Given the description of an element on the screen output the (x, y) to click on. 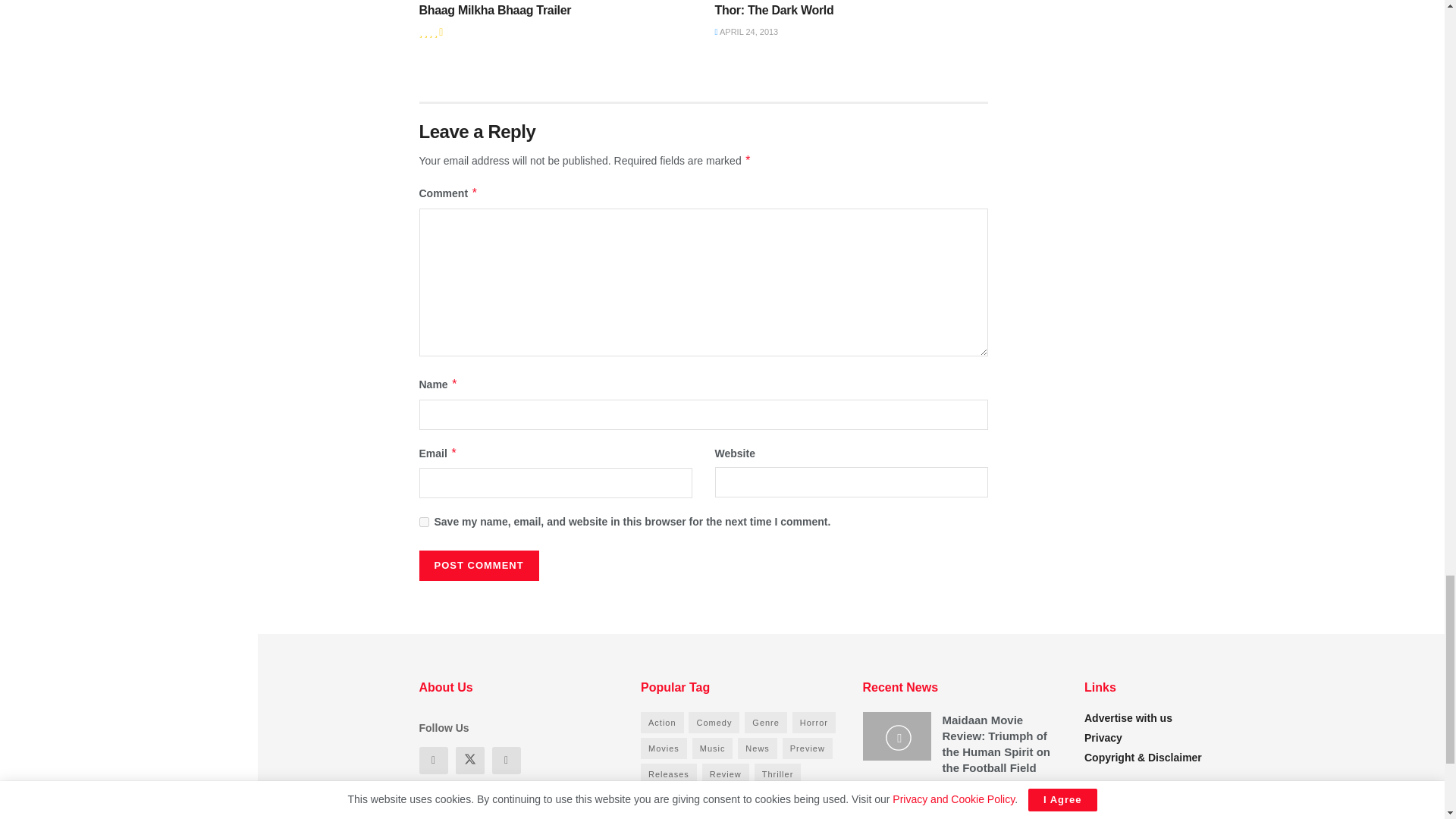
yes (423, 521)
Post Comment (478, 565)
